Given the description of an element on the screen output the (x, y) to click on. 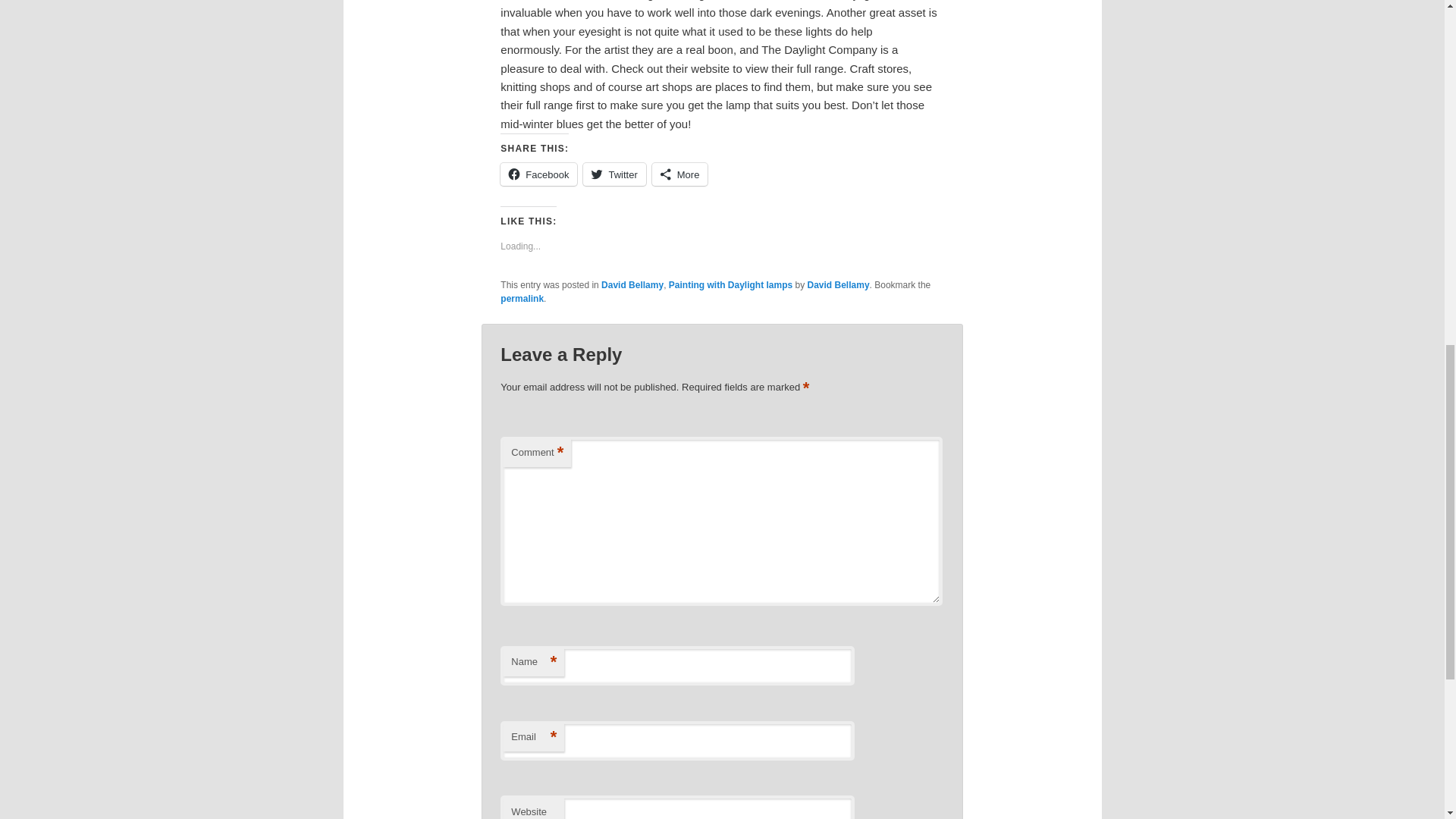
Click to share on Facebook (538, 173)
Click to share on Twitter (614, 173)
Permalink to How to paint in the dark (521, 298)
